Given the description of an element on the screen output the (x, y) to click on. 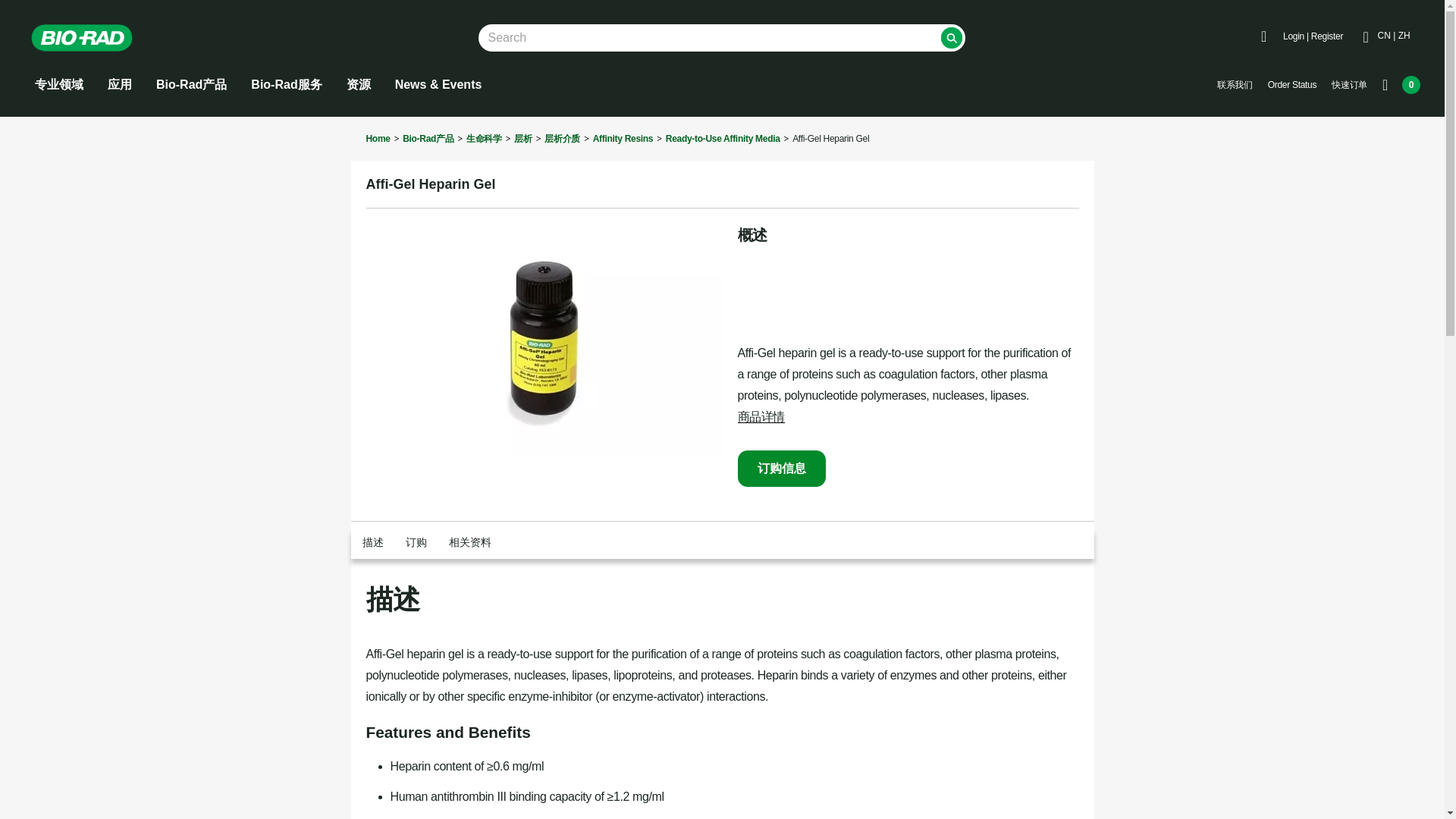
Search (951, 37)
Bio-Rad (92, 37)
0 (1401, 84)
Order Status (1291, 84)
Bio-Rad (81, 37)
Shopping Cart (1401, 84)
Search (951, 37)
Order Status (1291, 84)
